Given the description of an element on the screen output the (x, y) to click on. 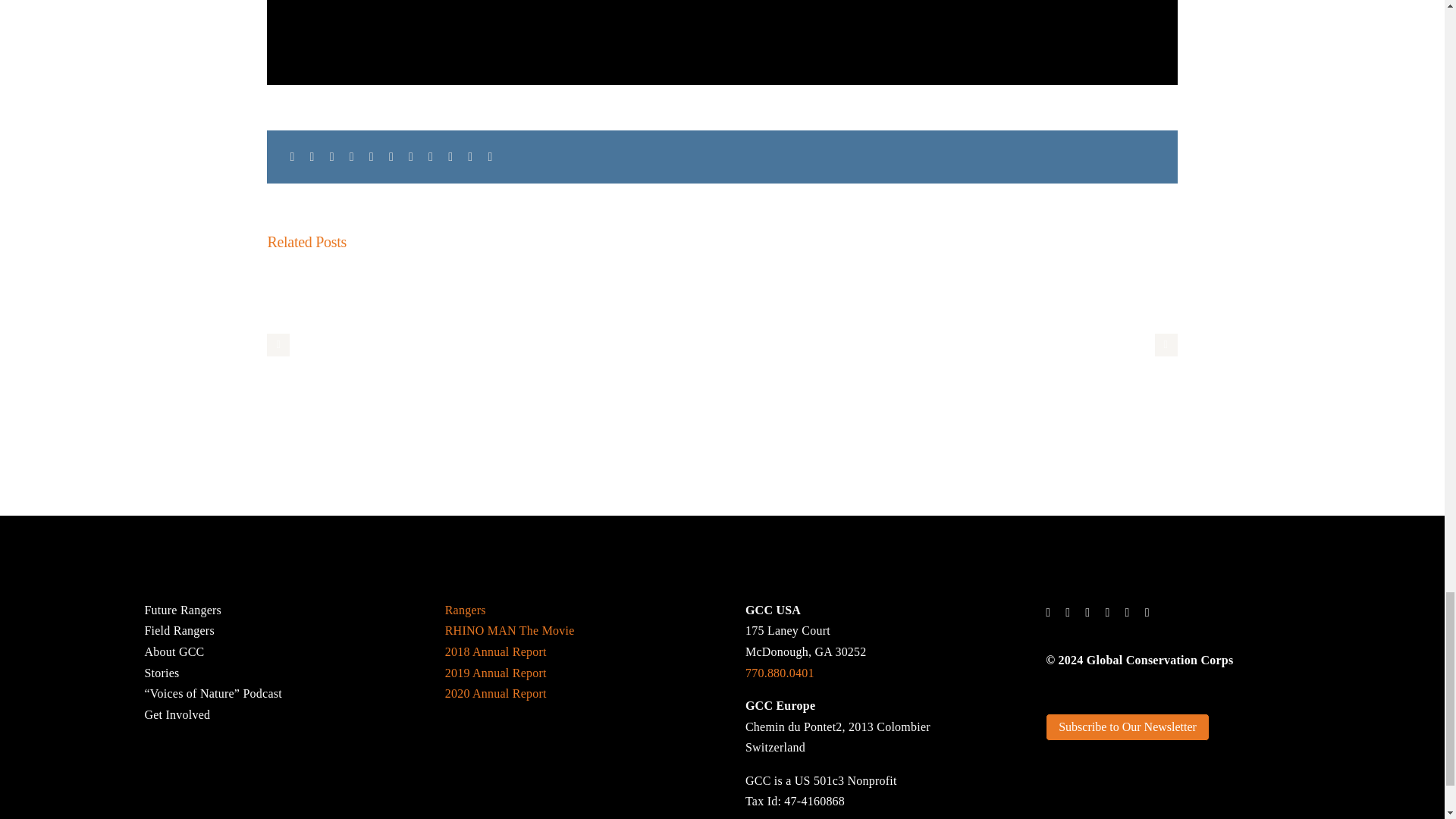
Tumblr (410, 156)
Facebook (291, 156)
Telegram (391, 156)
WhatsApp (371, 156)
X (311, 156)
Email (489, 156)
Xing (470, 156)
Vk (450, 156)
Pinterest (430, 156)
Reddit (331, 156)
LinkedIn (351, 156)
